Given the description of an element on the screen output the (x, y) to click on. 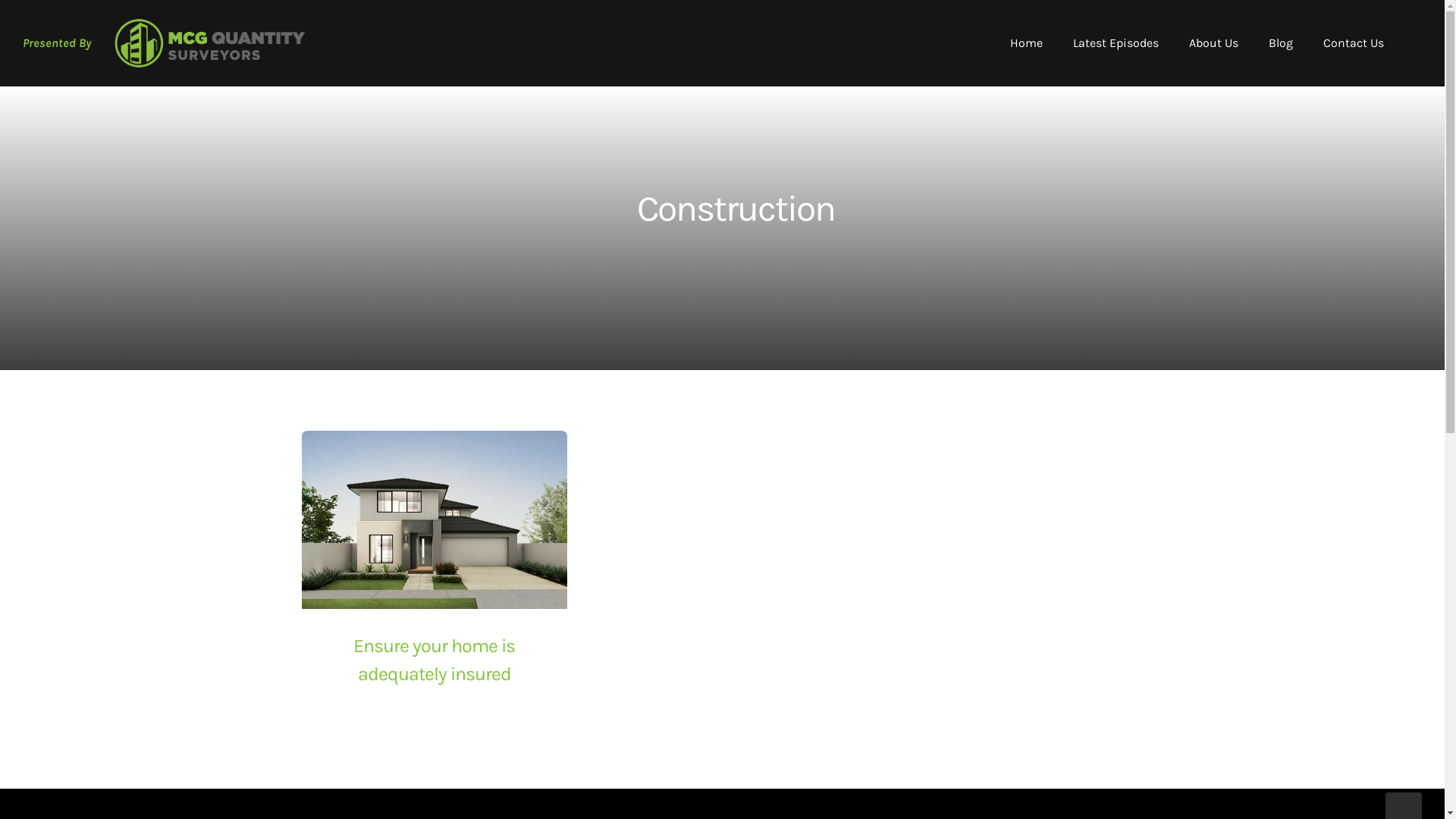
Ensure your home is adequately insured Element type: text (434, 659)
Home Element type: text (1025, 42)
Blog Element type: text (1280, 42)
Latest Episodes Element type: text (1115, 42)
Geared for Growth Property Investing Podcast Element type: hover (208, 41)
Contact Us Element type: text (1353, 42)
About Us Element type: text (1213, 42)
